Given the description of an element on the screen output the (x, y) to click on. 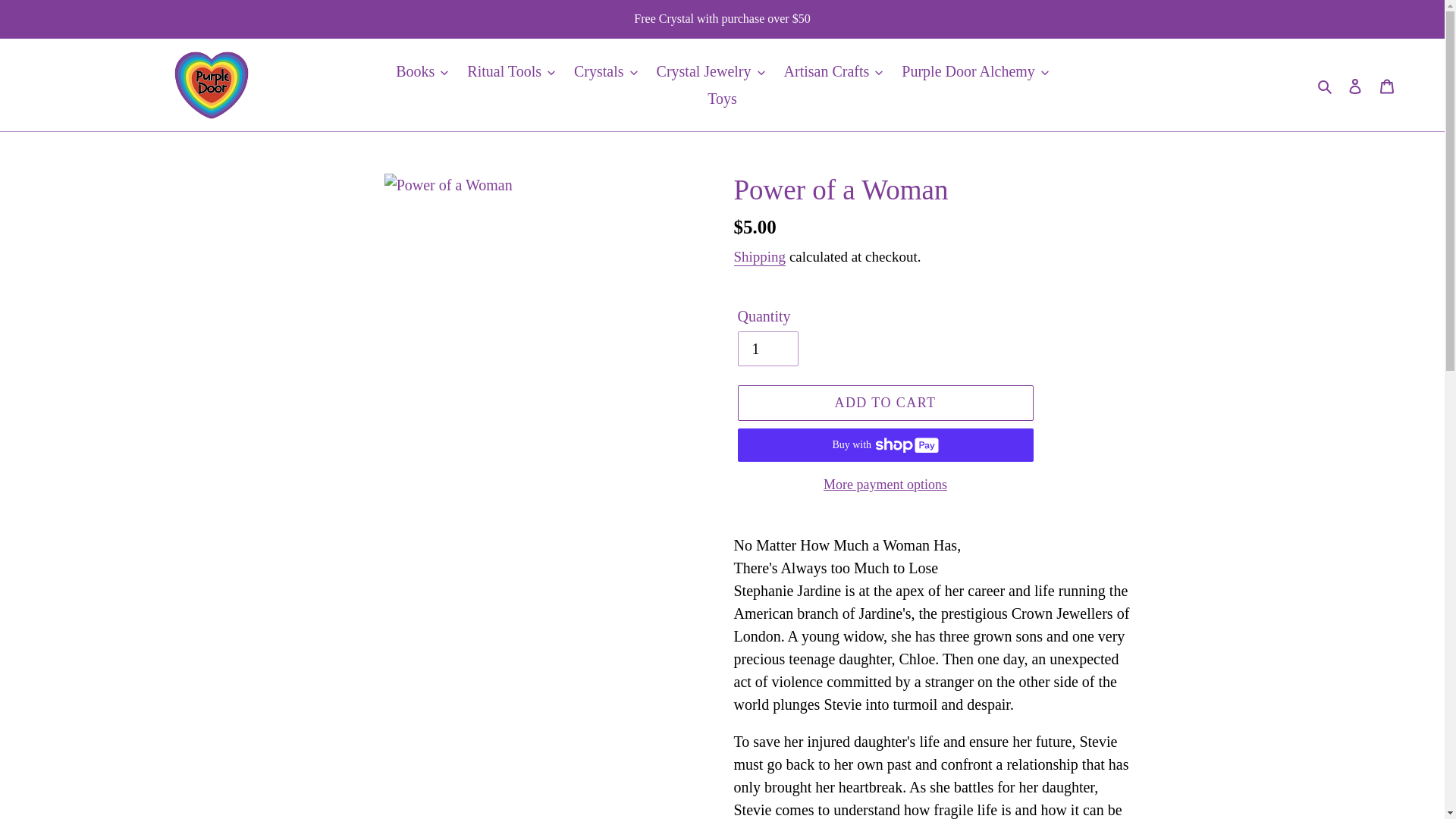
Artisan Crafts (833, 71)
Crystal Jewelry (711, 71)
Purple Door Alchemy (975, 71)
Crystals (605, 71)
1 (766, 348)
Books (421, 71)
Ritual Tools (511, 71)
